Given the description of an element on the screen output the (x, y) to click on. 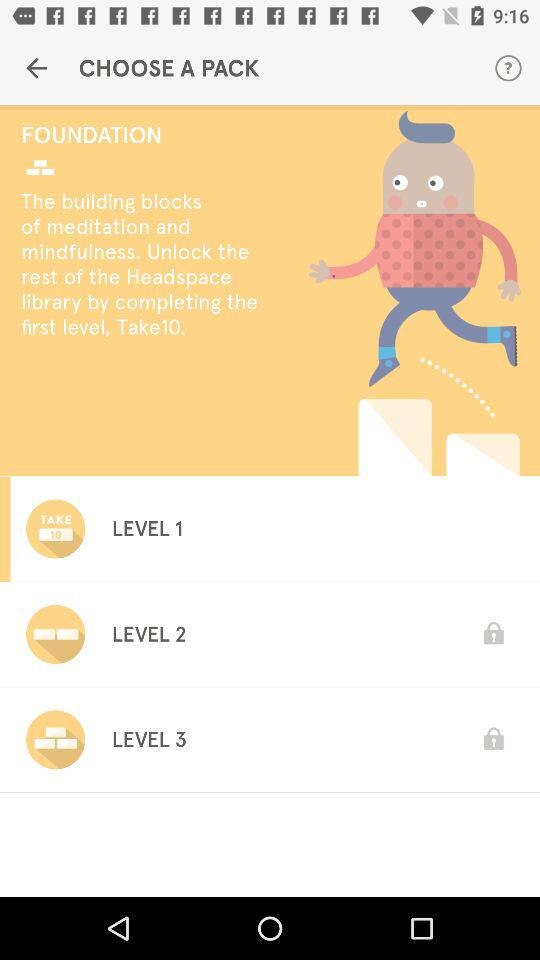
turn on foundation (145, 134)
